Given the description of an element on the screen output the (x, y) to click on. 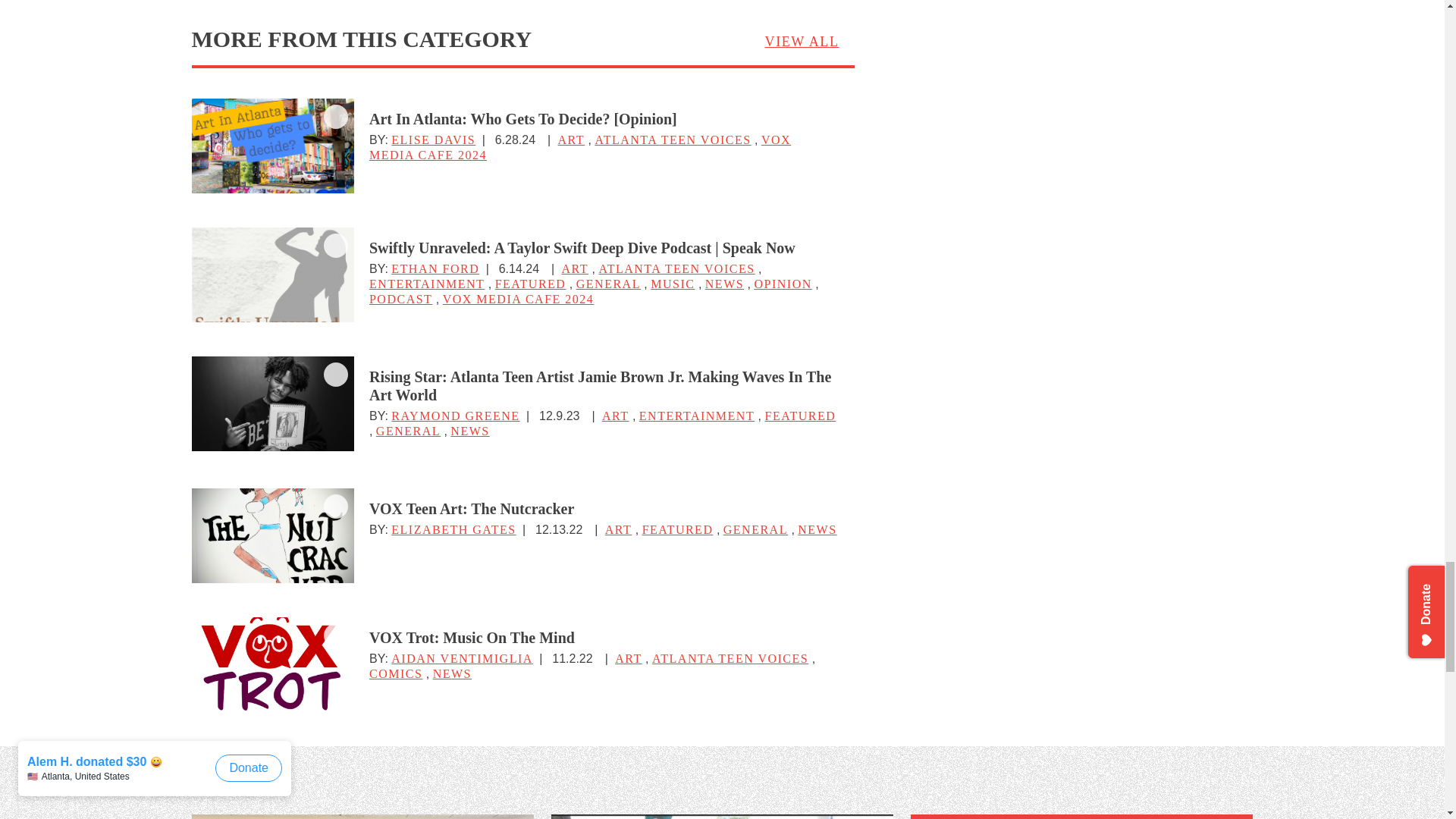
Posts by Ethan Ford (435, 268)
Posts by Elise Davis (433, 139)
